Given the description of an element on the screen output the (x, y) to click on. 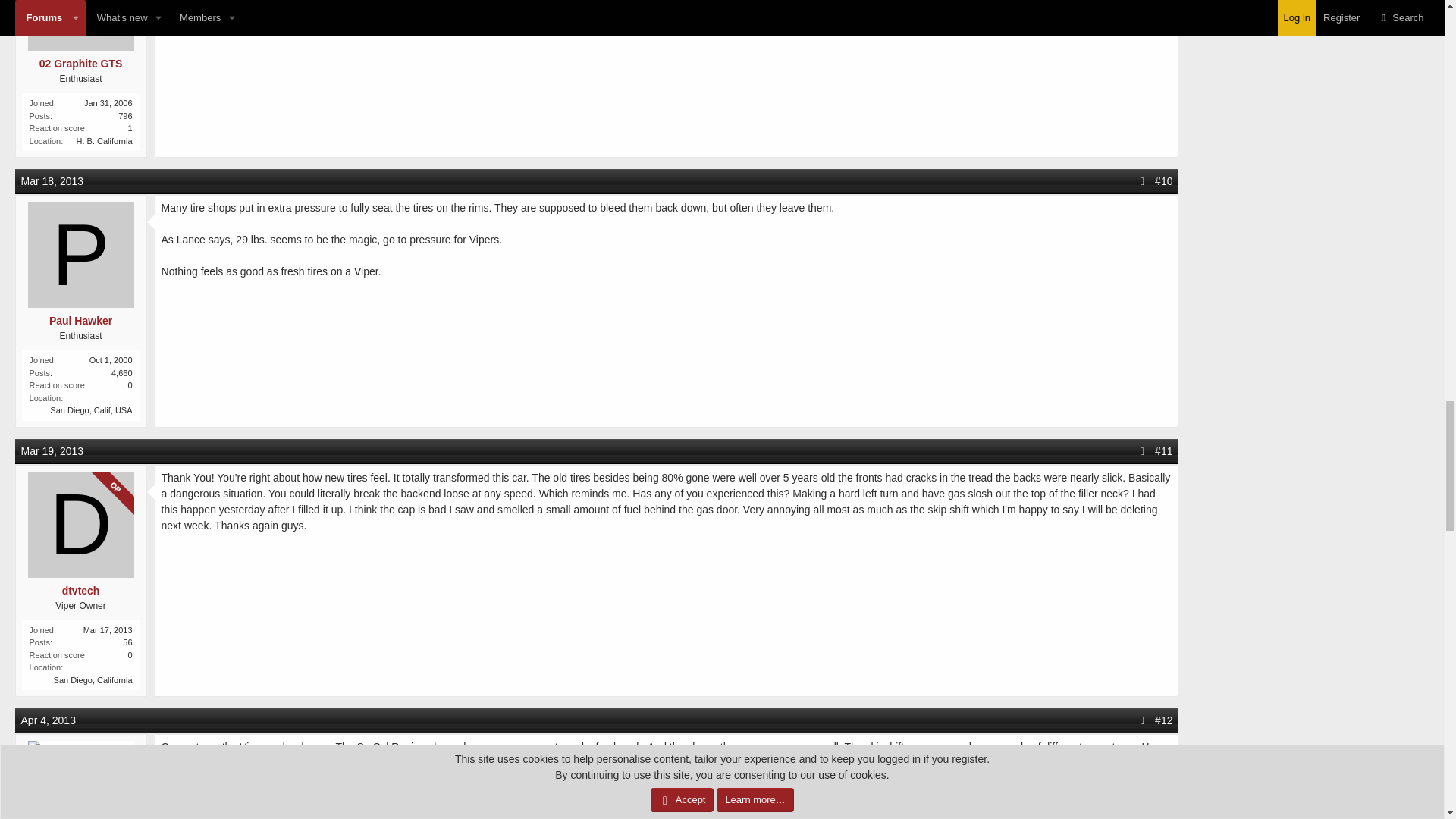
Mar 18, 2013 at 4:44 PM (52, 181)
Mar 19, 2013 at 8:57 AM (52, 451)
Apr 4, 2013 at 3:51 PM (48, 720)
